Given the description of an element on the screen output the (x, y) to click on. 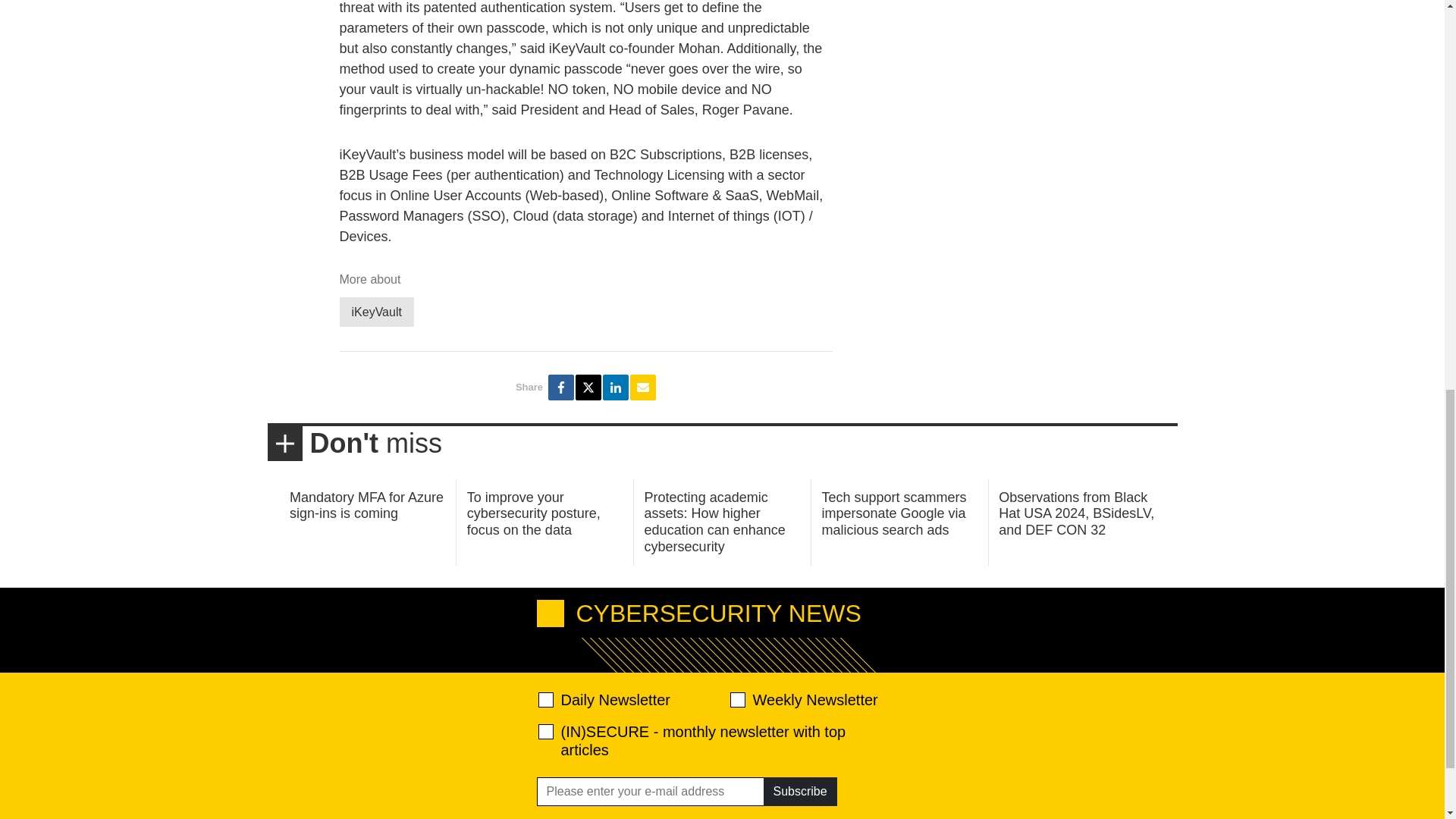
iKeyVault (376, 311)
To improve your cybersecurity posture, focus on the data (533, 513)
d2d471aafa (736, 699)
520ac2f639 (545, 699)
iKeyVault (376, 311)
